Given the description of an element on the screen output the (x, y) to click on. 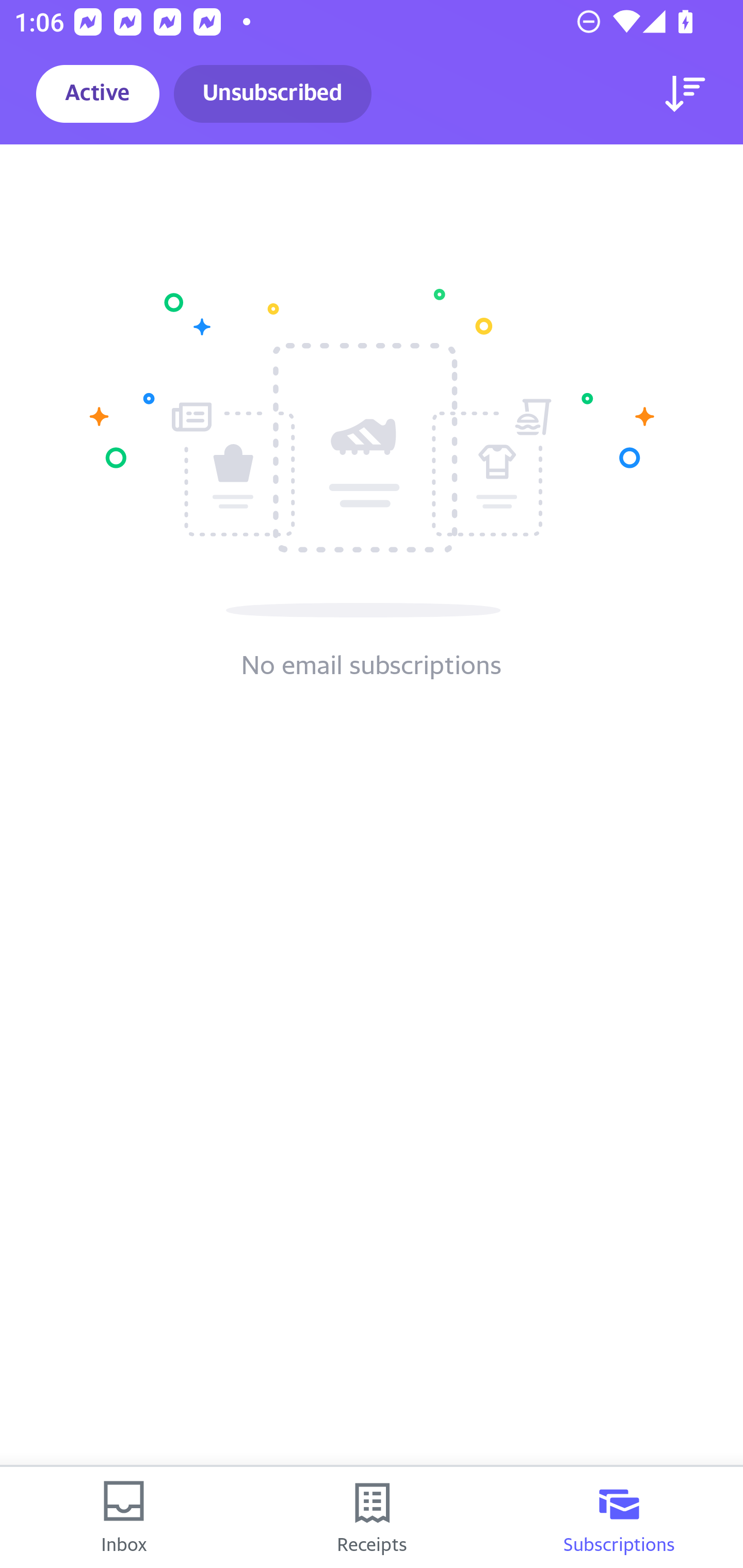
Unsubscribed (272, 93)
Sort (684, 93)
Inbox (123, 1517)
Receipts (371, 1517)
Subscriptions (619, 1517)
